Given the description of an element on the screen output the (x, y) to click on. 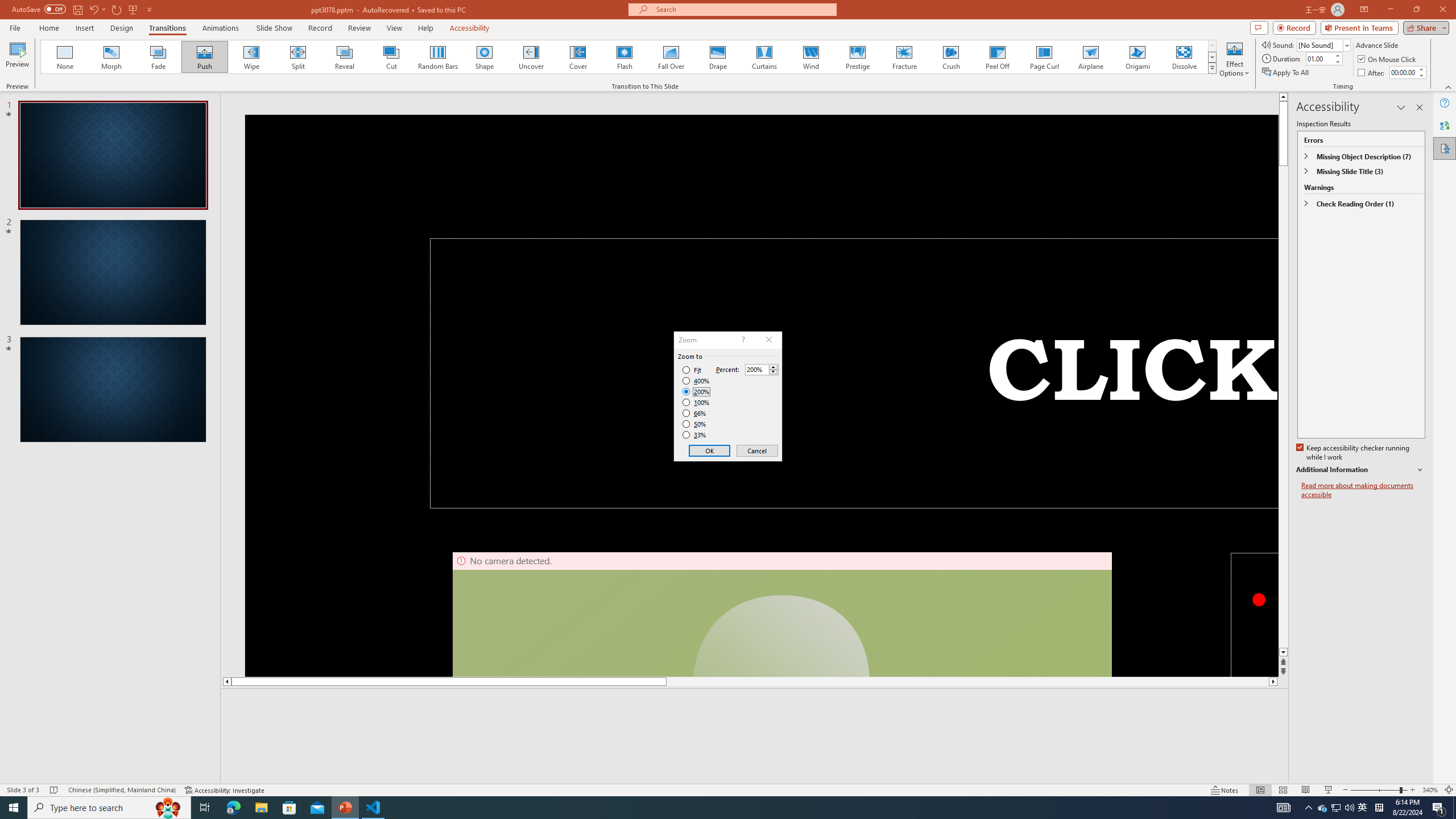
Dissolve (1183, 56)
Cover (577, 56)
Drape (717, 56)
After (1403, 72)
